Given the description of an element on the screen output the (x, y) to click on. 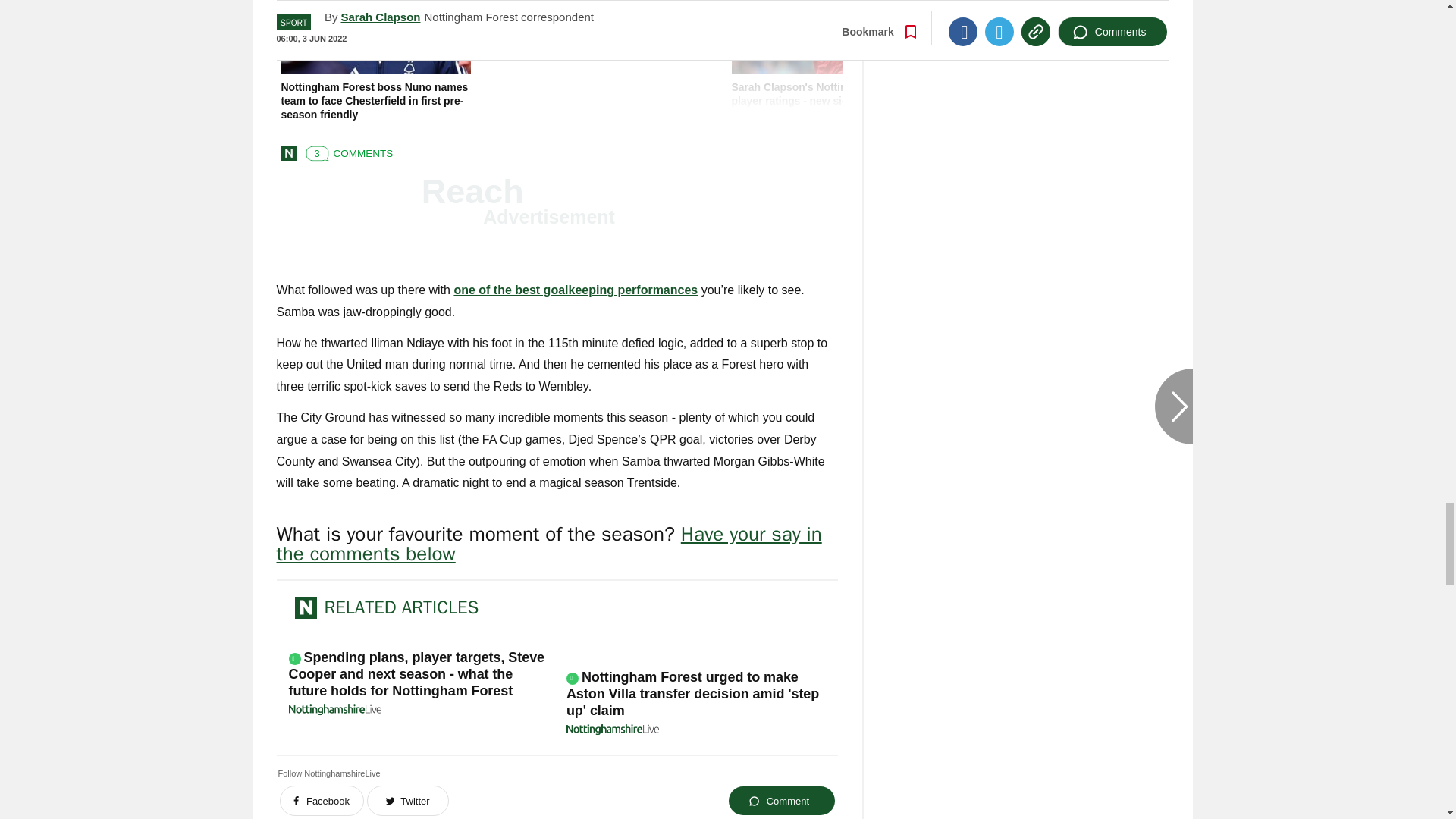
Comments (345, 150)
Comments (796, 150)
